Given the description of an element on the screen output the (x, y) to click on. 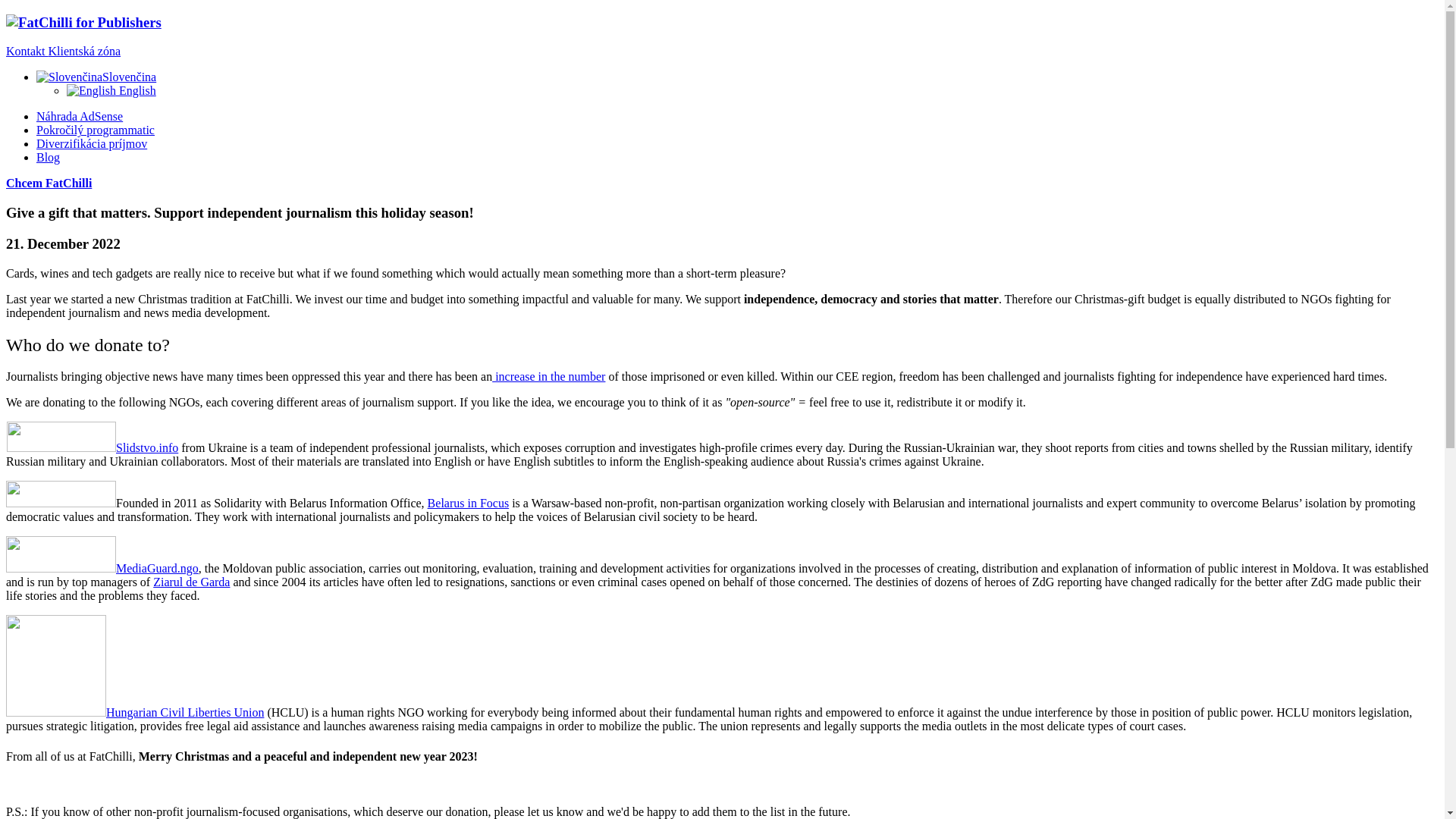
Chcem Fatchilli (48, 182)
English (110, 90)
Chcem FatChilli (48, 182)
MediaGuard.ngo (157, 567)
increase in the number (548, 376)
Hungarian Civil Liberties Union (184, 712)
Blog (47, 156)
Ziarul de Garda (191, 581)
Slidstvo.info (146, 447)
Belarus in Focus (468, 502)
